Given the description of an element on the screen output the (x, y) to click on. 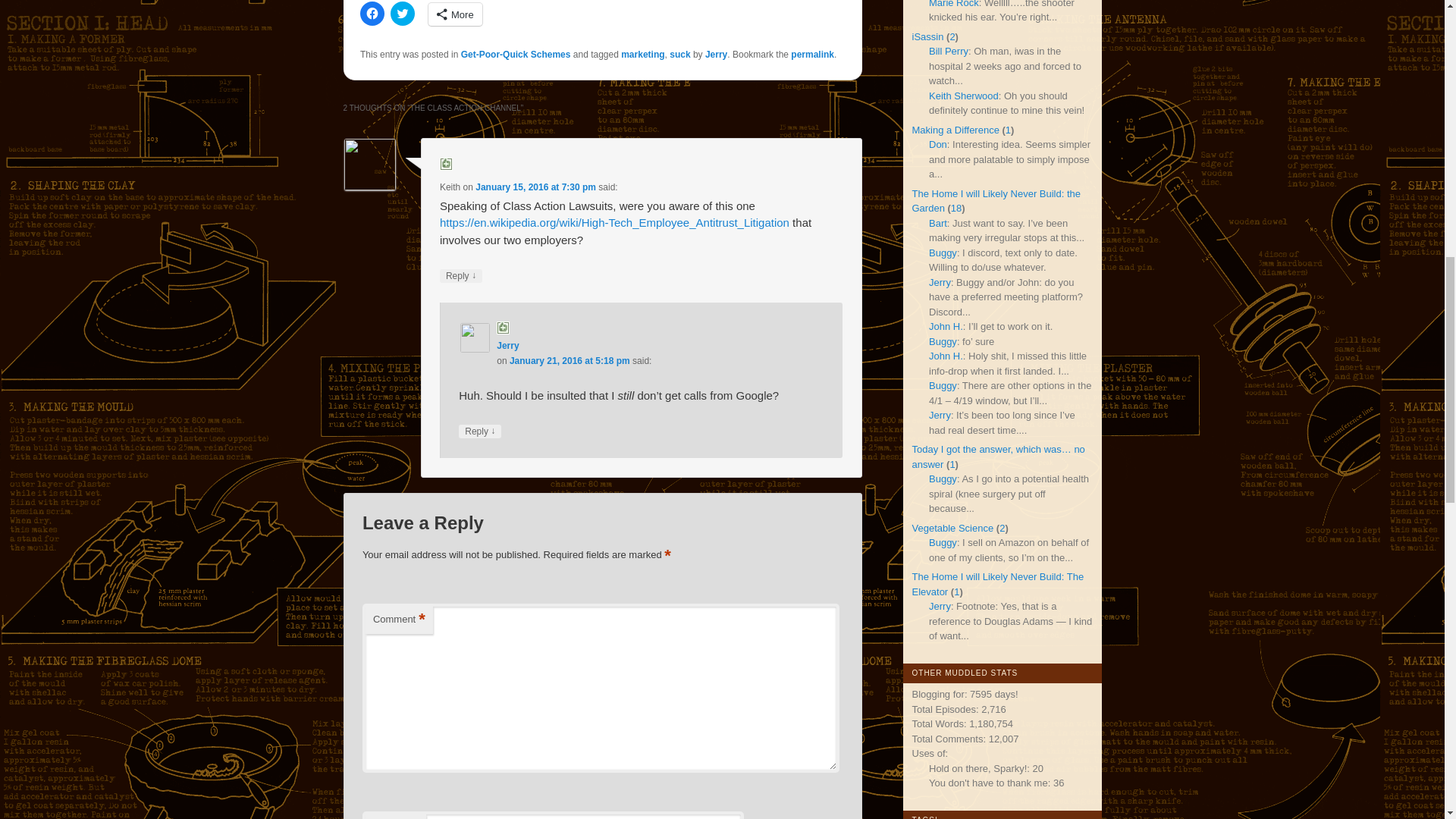
More (454, 4)
suck (679, 36)
Click to share on Facebook (371, 4)
Click to share on Twitter (402, 4)
Jerry (715, 36)
Jerry (507, 328)
Get-Poor-Quick Schemes (515, 36)
January 15, 2016 at 7:30 pm (535, 170)
Permalink to The Class Action Channel (812, 36)
marketing (642, 36)
permalink (812, 36)
January 21, 2016 at 5:18 pm (569, 343)
